Given the description of an element on the screen output the (x, y) to click on. 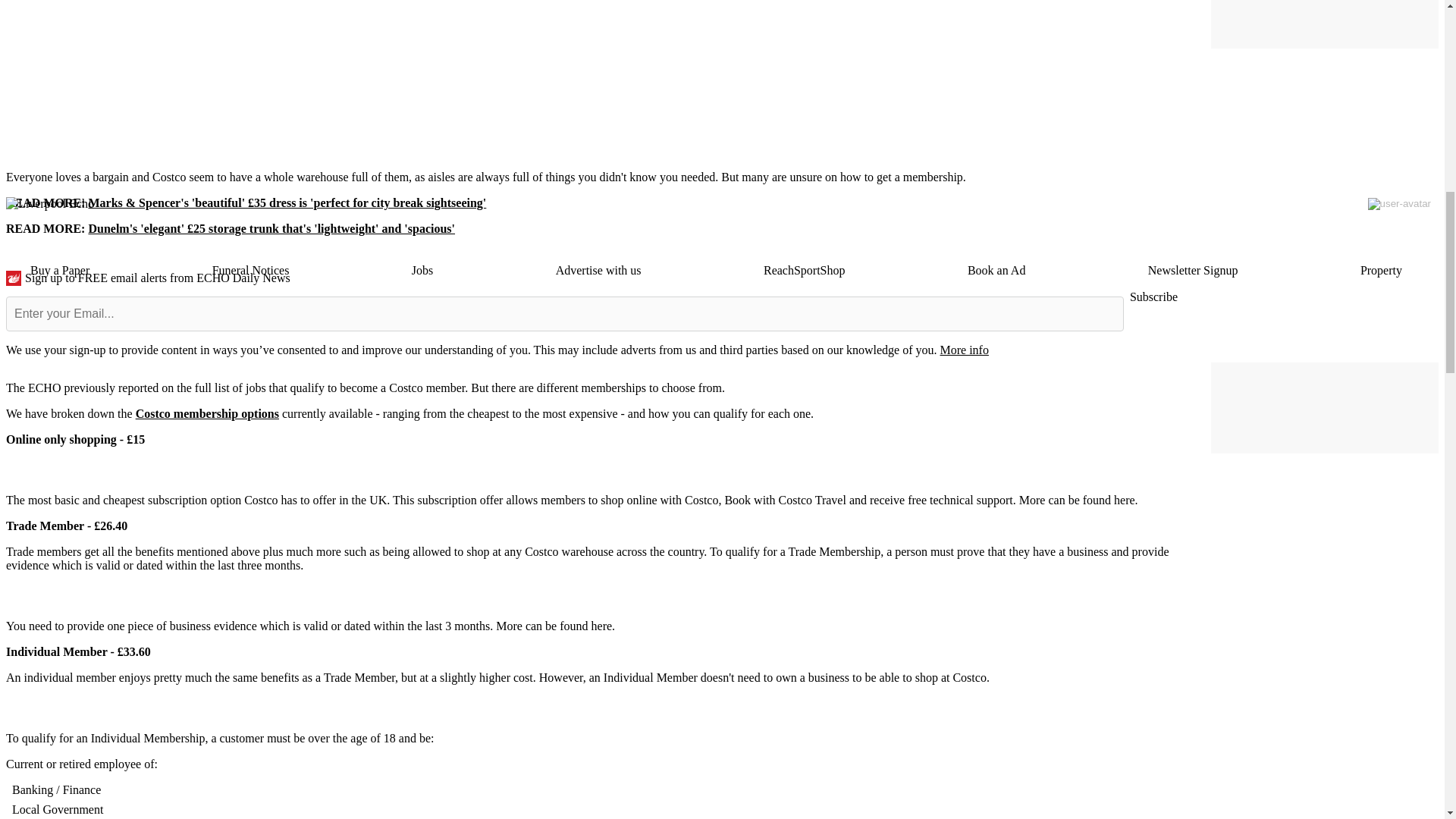
ECHO previously reported (91, 387)
here (1124, 499)
Subscribe (1153, 297)
More info (963, 349)
here (601, 625)
Costco membership options (207, 413)
